Given the description of an element on the screen output the (x, y) to click on. 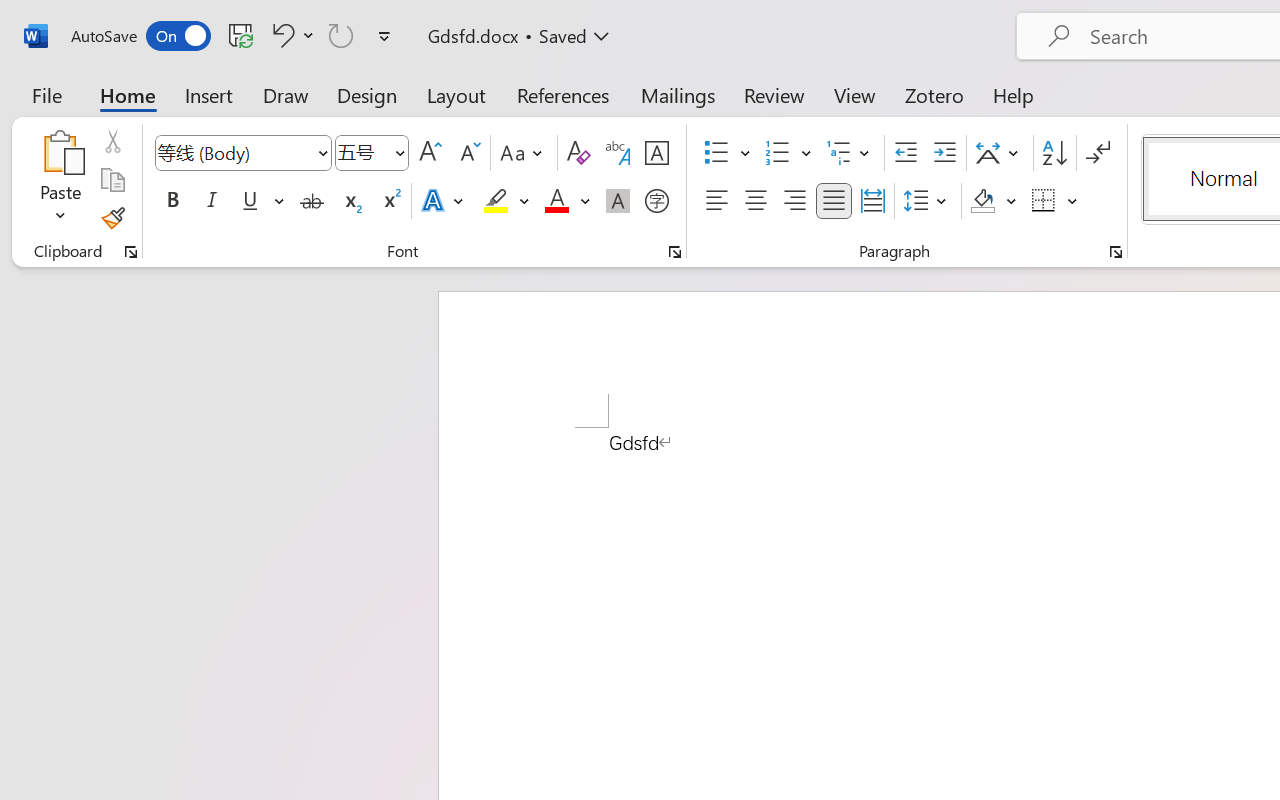
Cut (112, 141)
Text Highlight Color Yellow (495, 201)
Font Color Red (556, 201)
Copy (112, 179)
Shrink Font (468, 153)
Distributed (872, 201)
Justify (834, 201)
Shading RGB(0, 0, 0) (982, 201)
Italic (212, 201)
Increase Indent (944, 153)
